Given the description of an element on the screen output the (x, y) to click on. 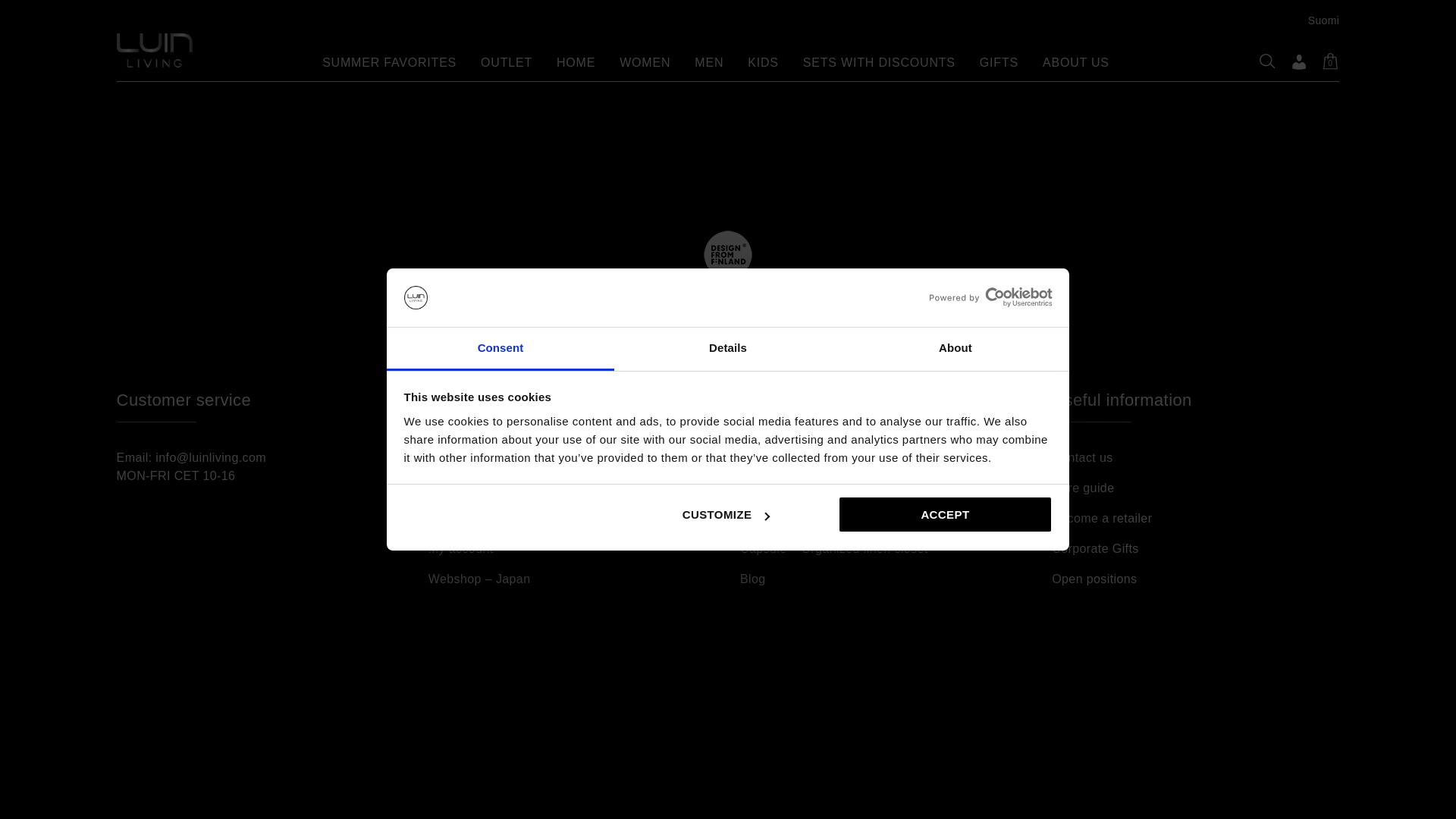
Search (839, 41)
Consent (500, 146)
Details (727, 146)
About (954, 146)
Search (839, 41)
